Given the description of an element on the screen output the (x, y) to click on. 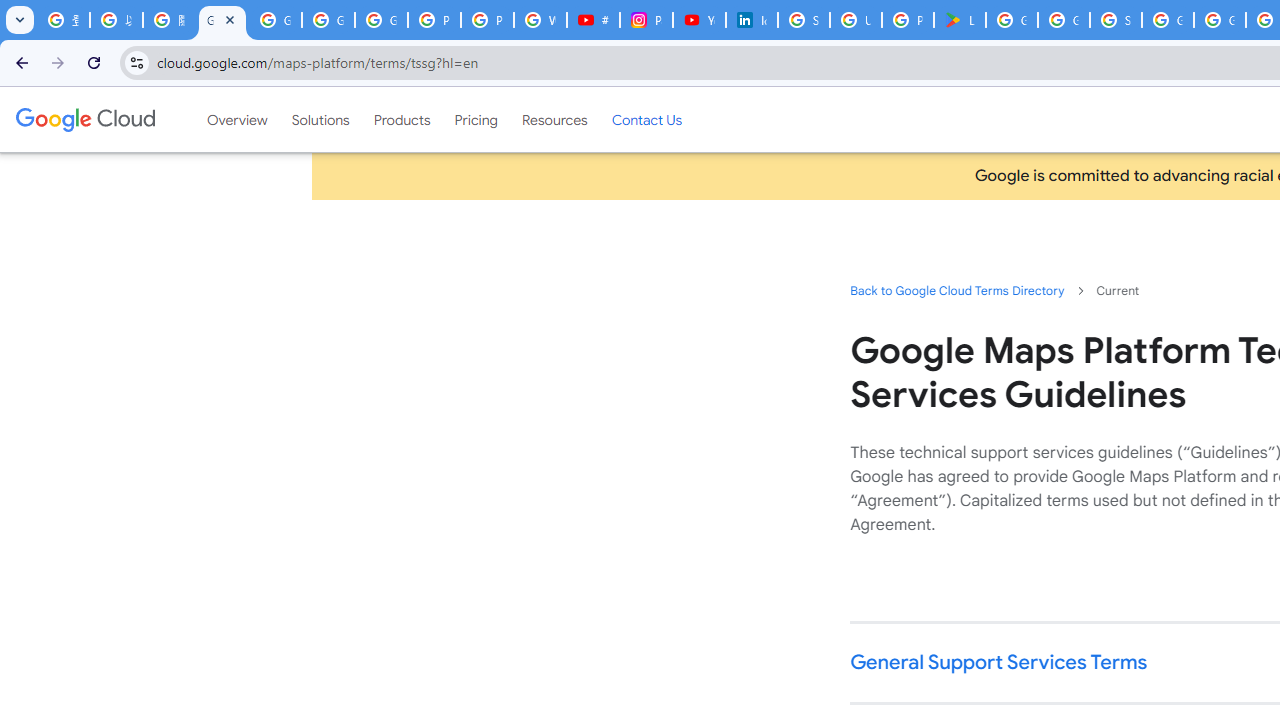
#nbabasketballhighlights - YouTube (593, 20)
Resources (553, 119)
Back to Google Cloud Terms Directory (956, 290)
Contact Us (646, 119)
Sign in - Google Accounts (1115, 20)
Privacy Help Center - Policies Help (434, 20)
Privacy Help Center - Policies Help (487, 20)
